Given the description of an element on the screen output the (x, y) to click on. 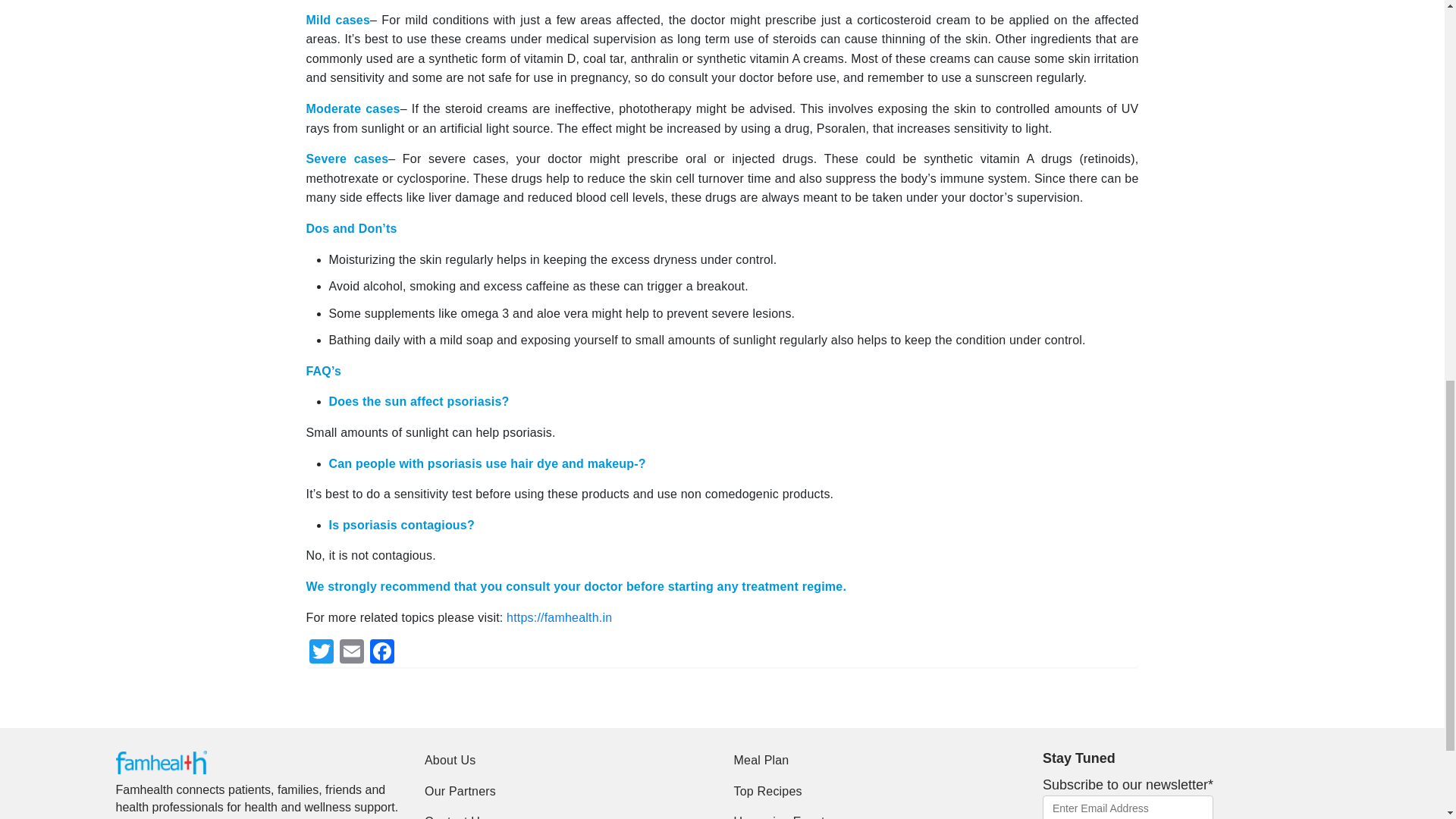
Email (351, 653)
Facebook (381, 653)
Twitter (320, 653)
